Given the description of an element on the screen output the (x, y) to click on. 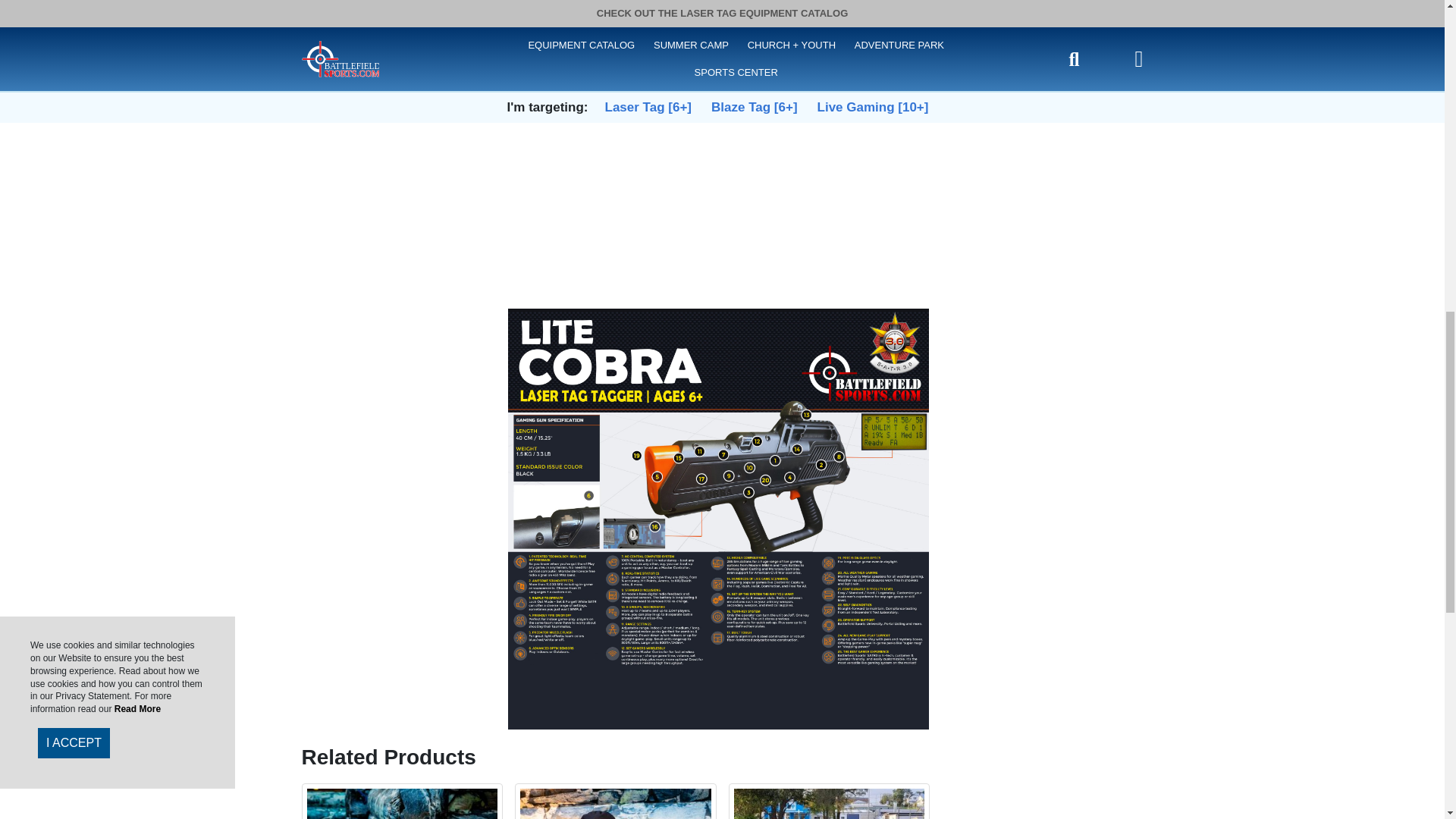
YouTube video player (721, 155)
submit (721, 99)
